Given the description of an element on the screen output the (x, y) to click on. 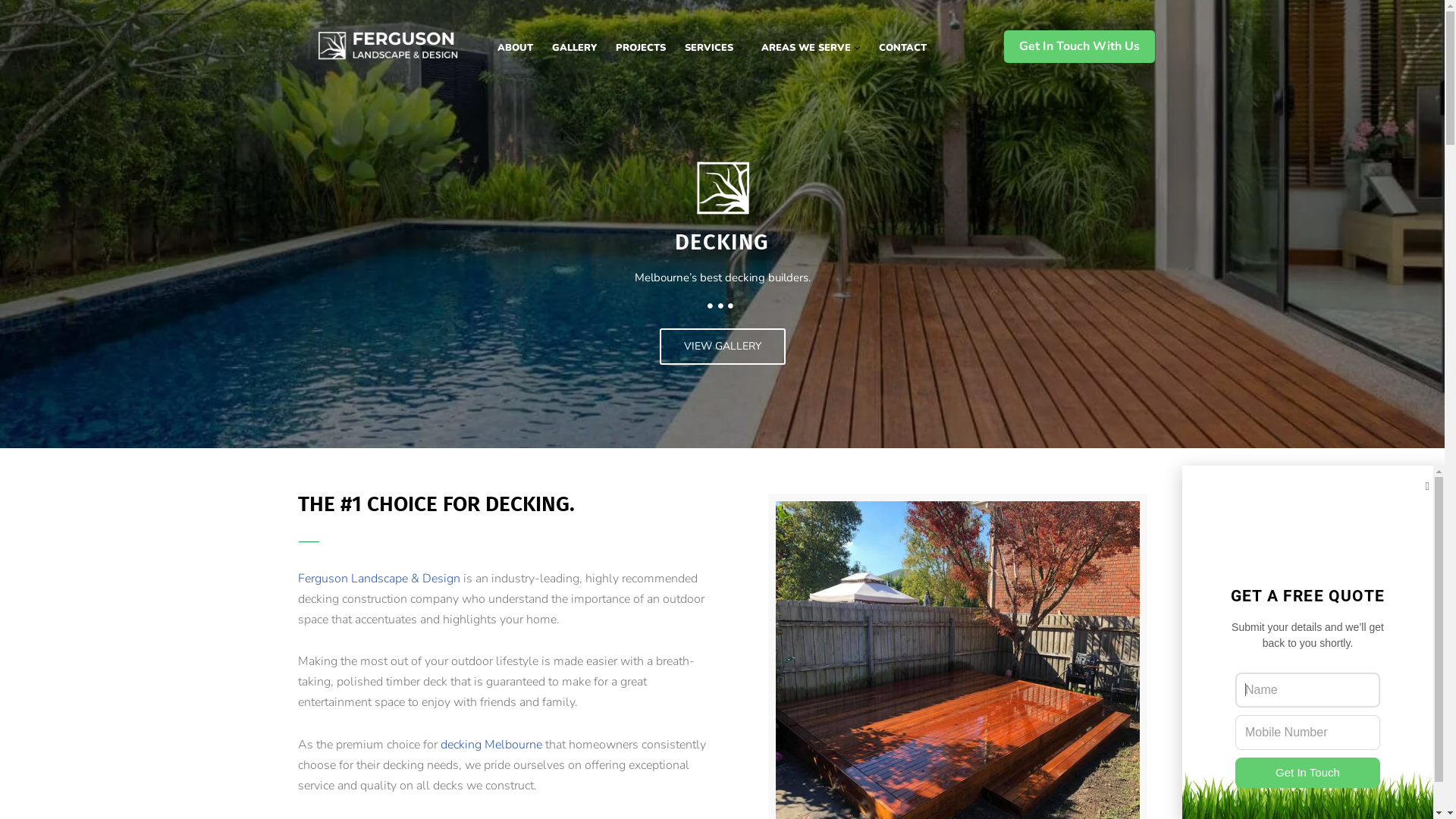
Get In Touch With Us Element type: text (1079, 46)
Ferguson Landscape & Design Element type: text (378, 578)
Skip to content Element type: text (11, 31)
VIEW GALLERY Element type: text (722, 345)
GALLERY Element type: text (574, 47)
AREAS WE SERVE Element type: text (805, 47)
PROJECTS Element type: text (640, 47)
CONTACT Element type: text (901, 47)
white-logo Element type: hover (721, 187)
SERVICES Element type: text (708, 47)
green-logo-transparent Element type: hover (1307, 516)
ABOUT Element type: text (515, 47)
decking Melbourne Element type: text (490, 744)
